Given the description of an element on the screen output the (x, y) to click on. 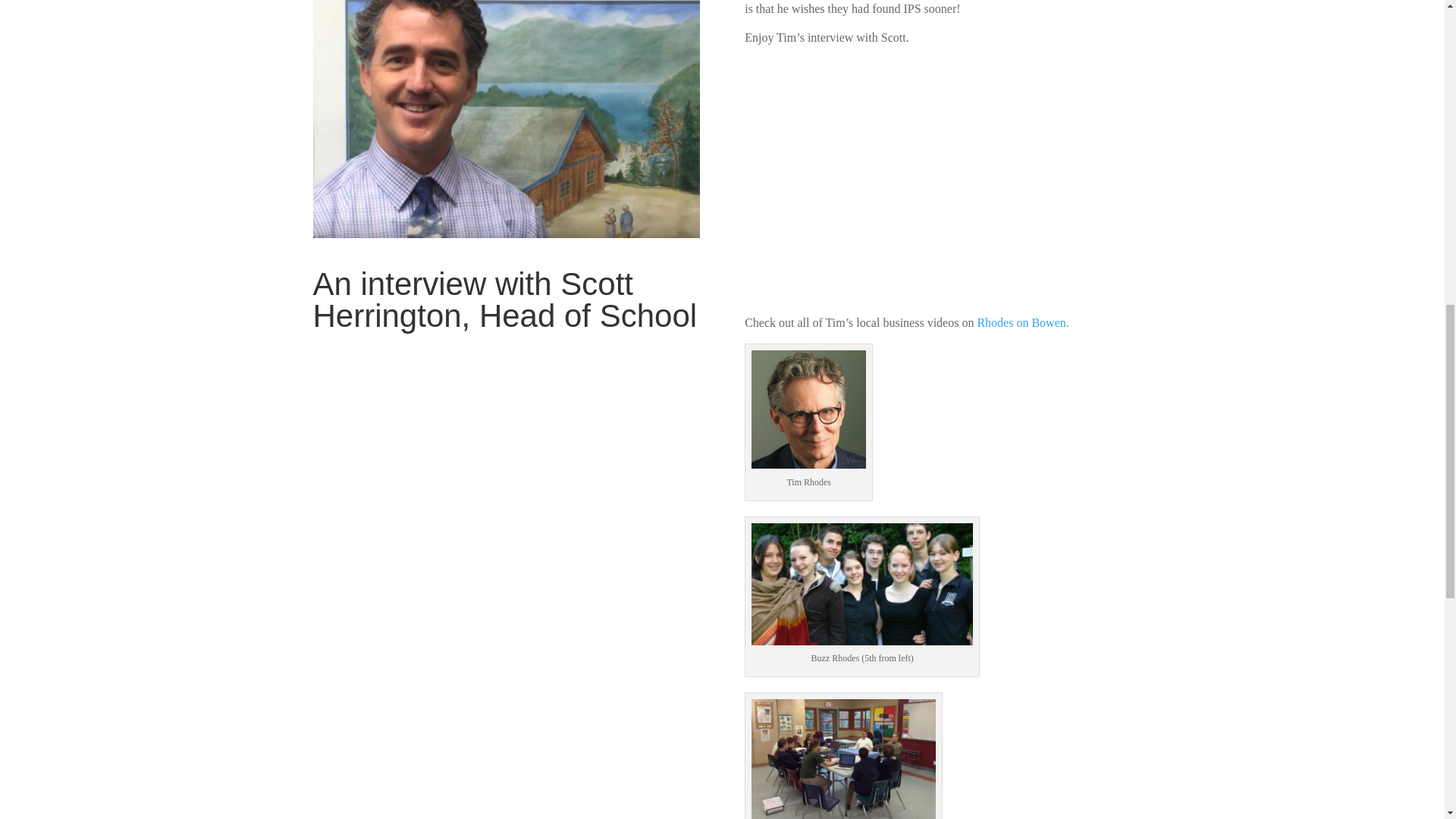
Scott Herrington (505, 119)
